Given the description of an element on the screen output the (x, y) to click on. 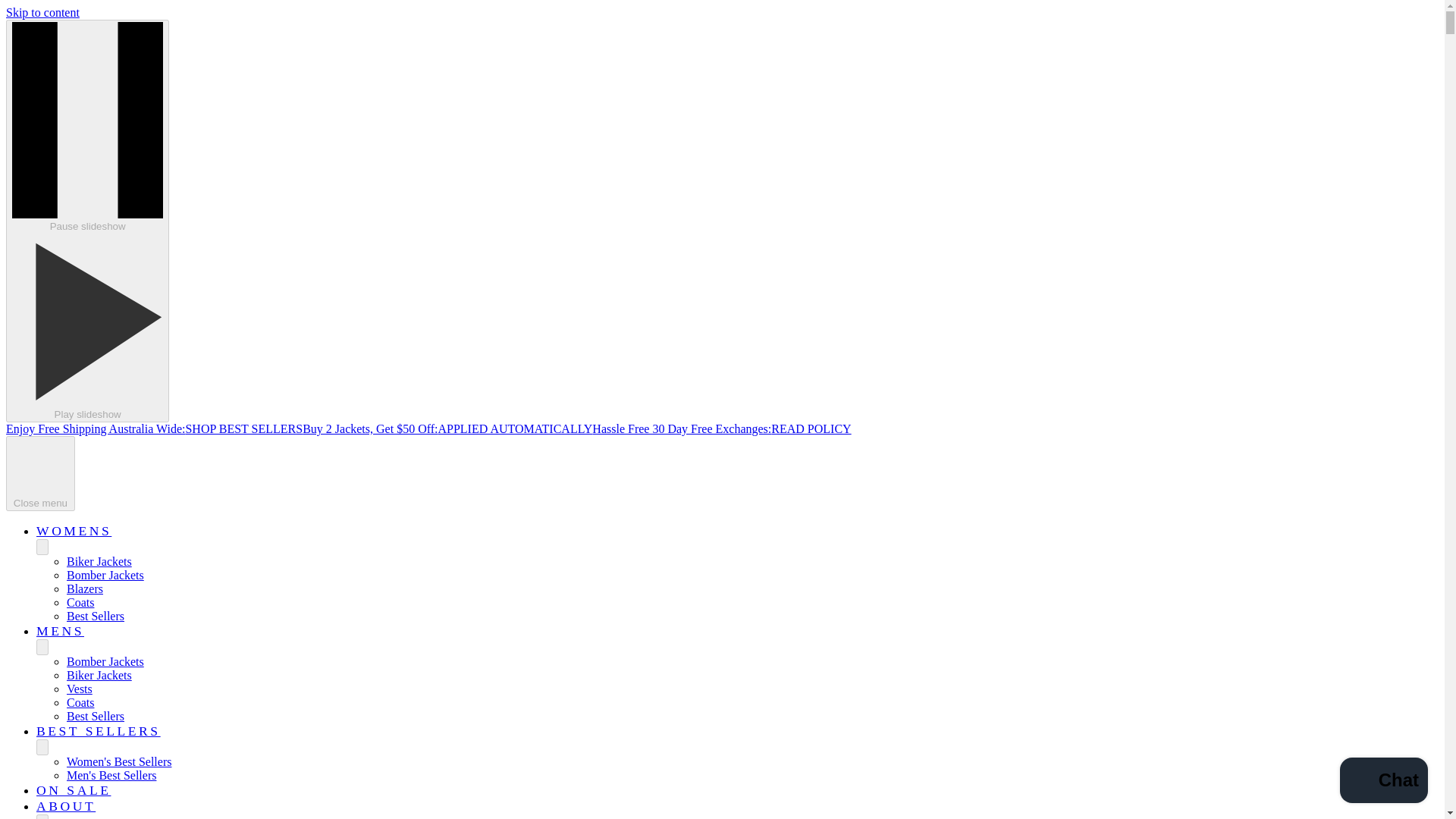
icon-X (39, 466)
ON SALE (73, 789)
Best Sellers (94, 716)
Bomber Jackets (105, 661)
Skip to content (42, 11)
WOMENS (74, 530)
Enjoy Free Shipping Australia Wide:SHOP BEST SELLERS (153, 428)
Bomber Jackets (105, 574)
Coats (80, 702)
ABOUT (66, 806)
